Given the description of an element on the screen output the (x, y) to click on. 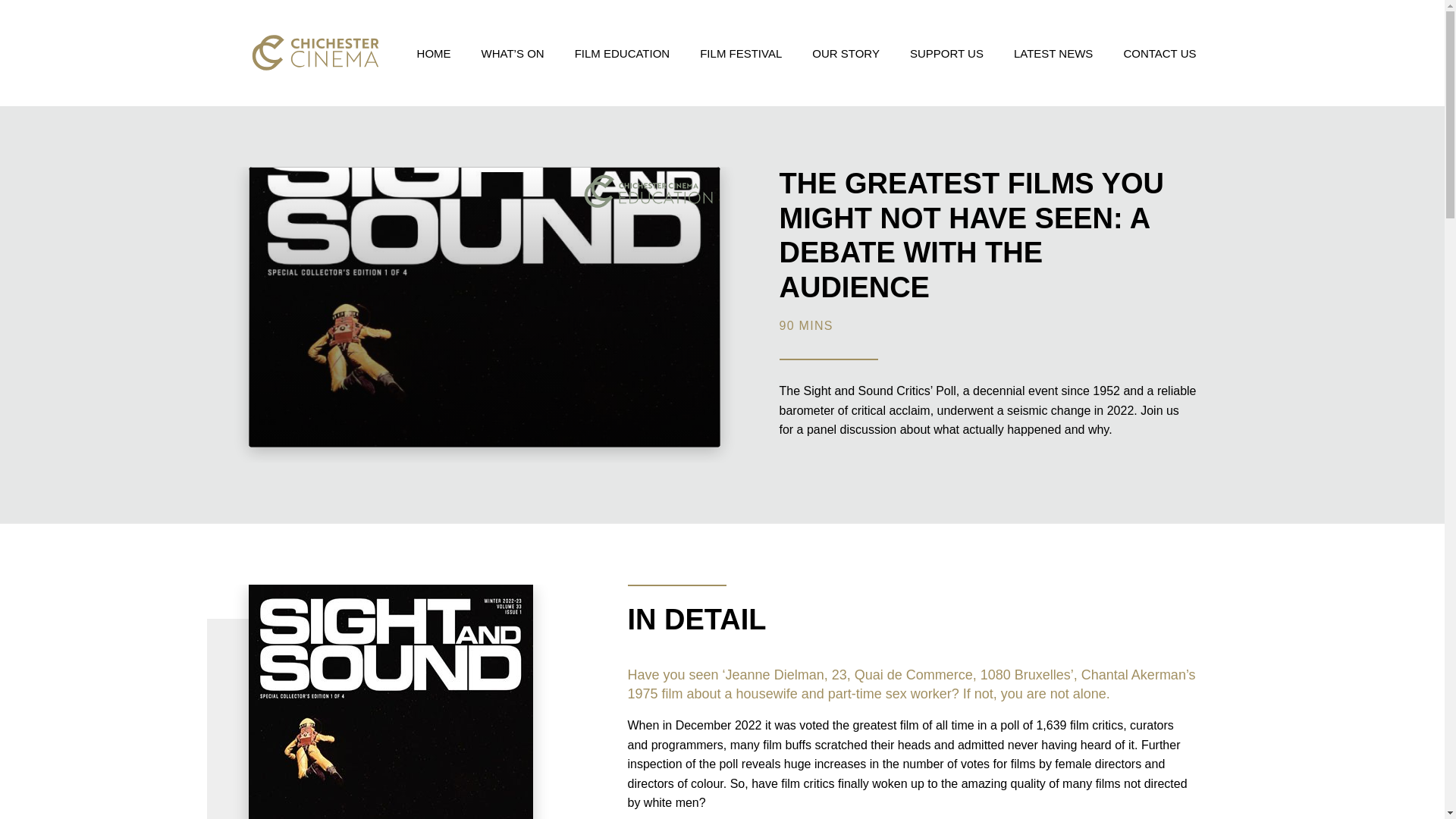
SUPPORT US (947, 52)
CONTACT US (1158, 52)
FILM EDUCATION (622, 52)
OUR STORY (845, 52)
LATEST NEWS (1053, 52)
HOME (433, 52)
FILM FESTIVAL (740, 52)
